Given the description of an element on the screen output the (x, y) to click on. 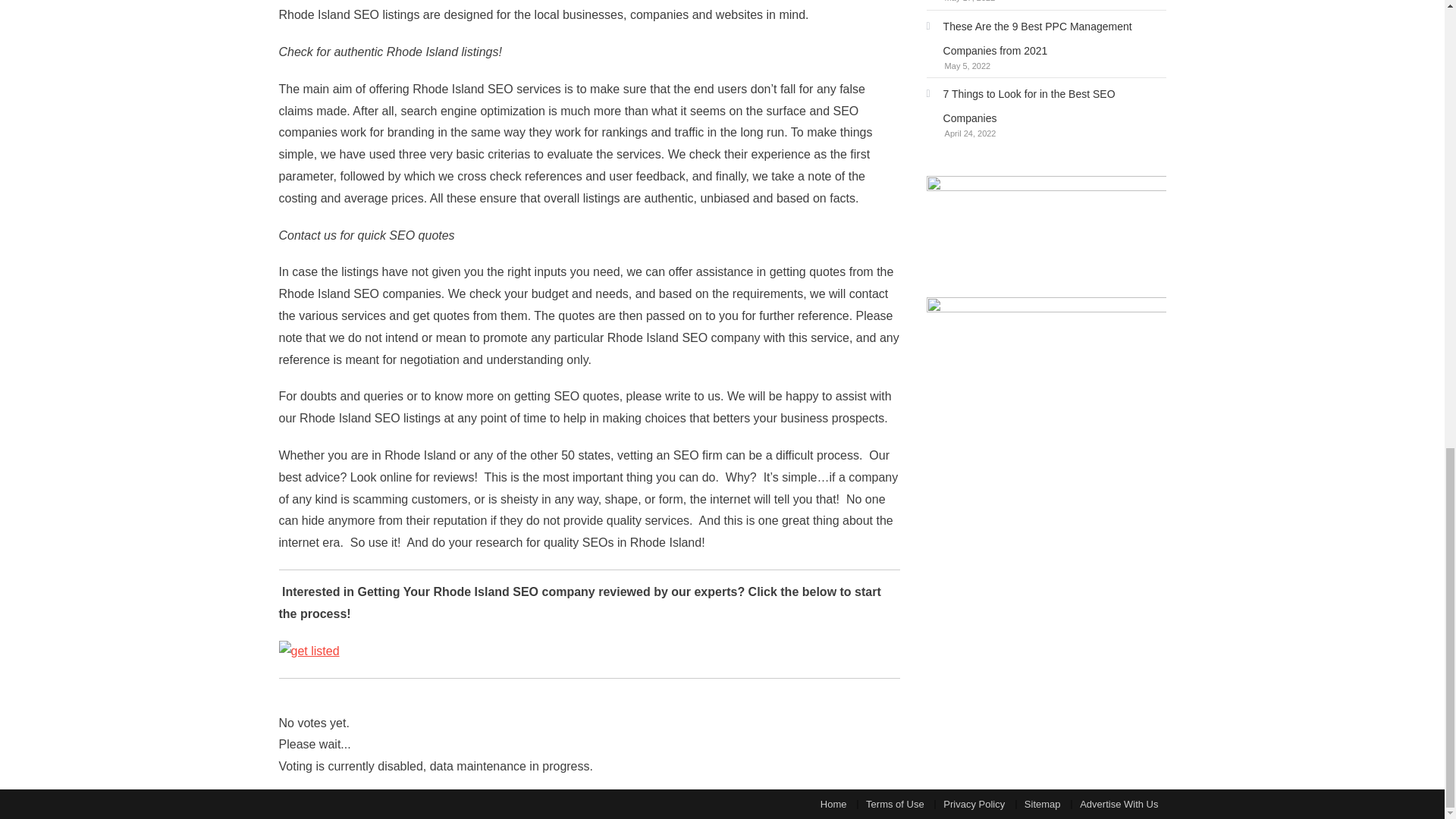
Privacy Policy (973, 803)
Sitemap (1043, 803)
These Are the 9 Best PPC Management Companies from 2021 (1046, 38)
BannerBestSeoListing3 (1046, 236)
Terms of Use (895, 803)
Get Listed (309, 649)
getlisted (309, 651)
Home (834, 803)
7 Things to Look for in the Best SEO Companies (1046, 105)
BannerBestSeoListing2 (1046, 357)
